Given the description of an element on the screen output the (x, y) to click on. 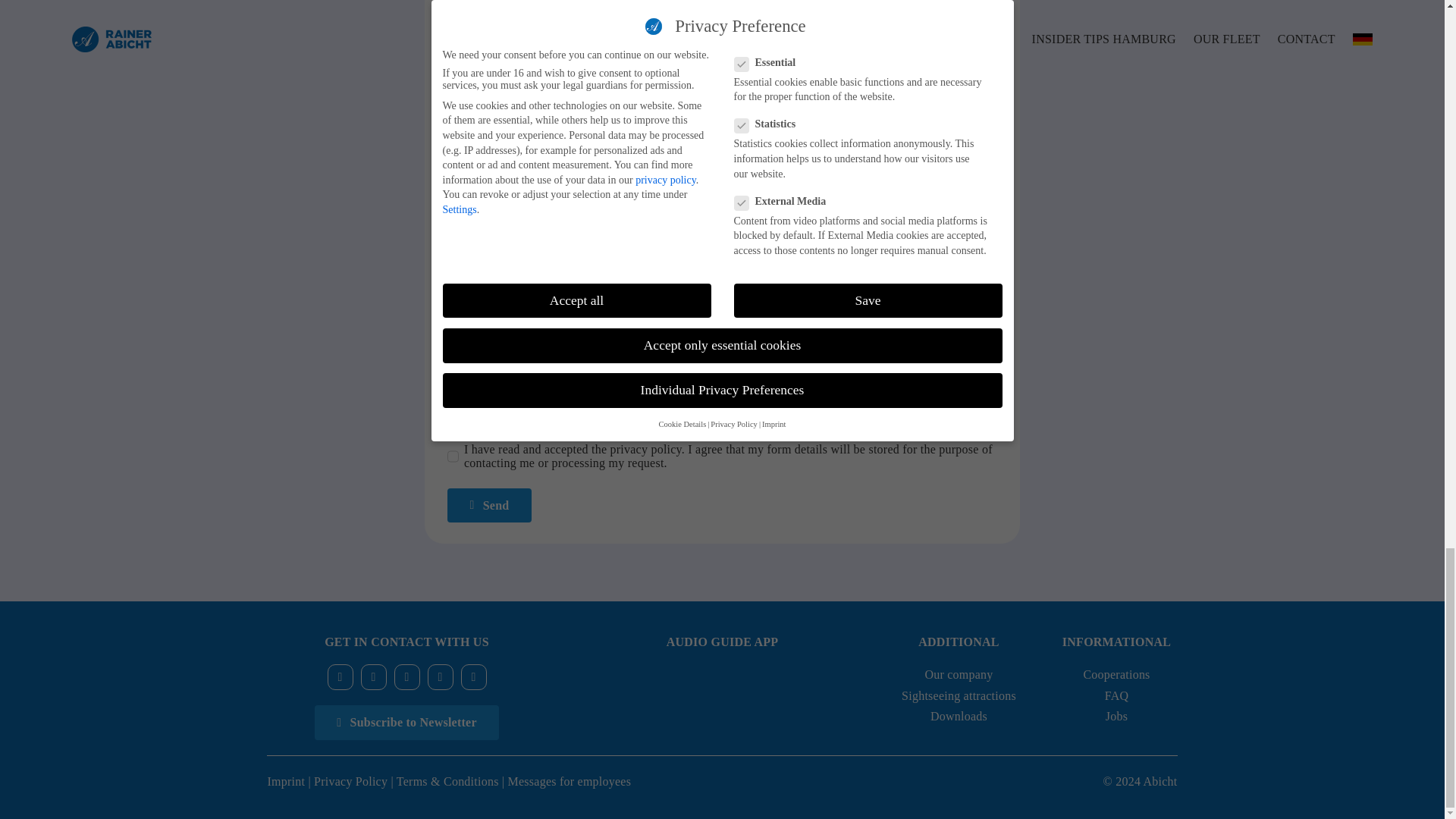
Email (440, 677)
Sightseeing attractions (958, 695)
Our company (958, 674)
Phone (473, 677)
Subscribe to Newsletter (406, 722)
Tiktok (407, 677)
Jobs (1115, 716)
Messages for employees (569, 780)
Facebook (340, 677)
Downloads (958, 716)
Imprint (285, 780)
Send (488, 505)
Privacy Policy (350, 780)
FAQ (1117, 695)
Instagram (374, 677)
